Given the description of an element on the screen output the (x, y) to click on. 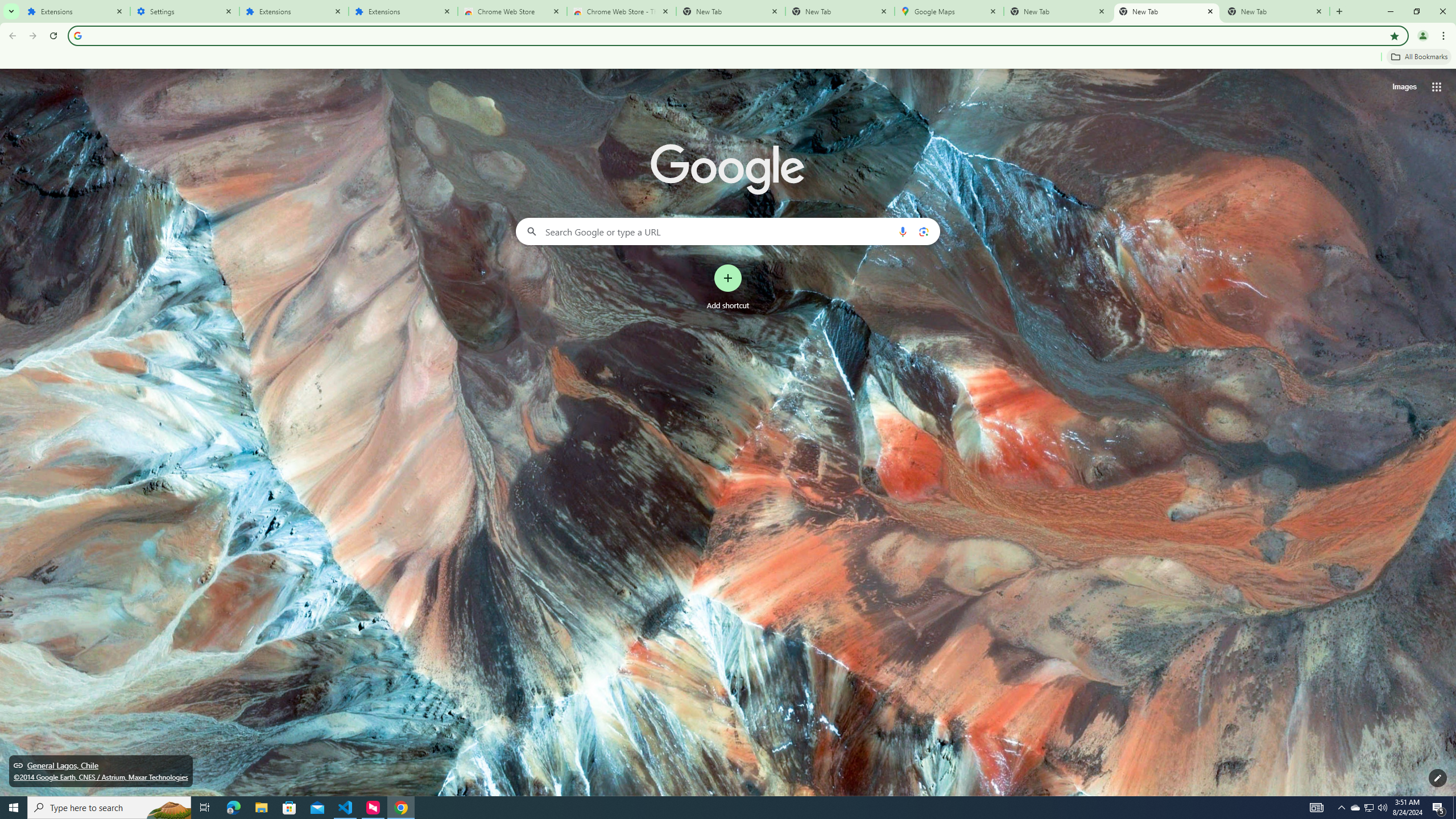
Extensions (75, 11)
Chrome Web Store - Themes (621, 11)
Settings (184, 11)
Extensions (403, 11)
